Given the description of an element on the screen output the (x, y) to click on. 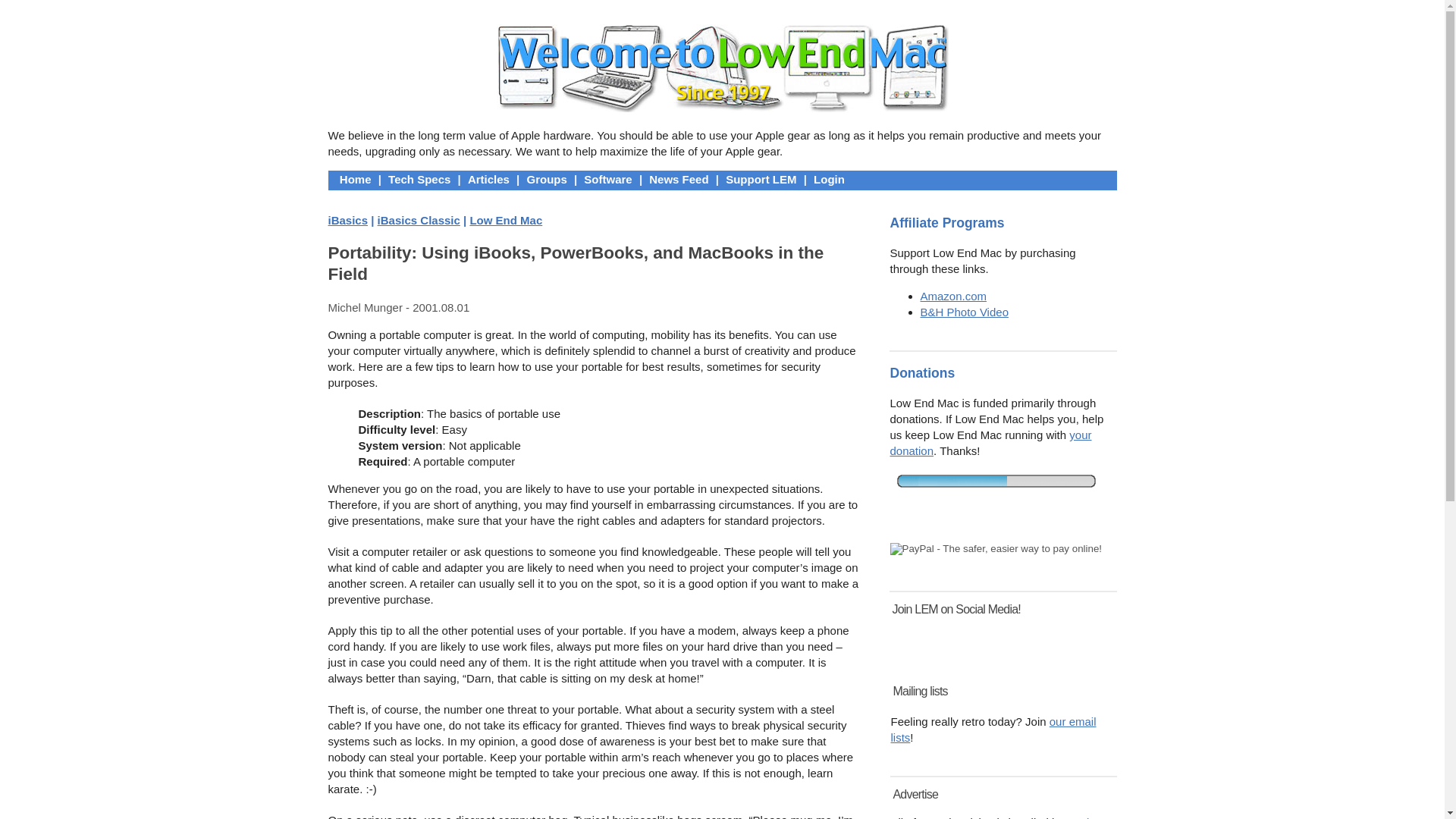
Home (355, 178)
Articles (488, 178)
Groups (546, 178)
Our User Forums (546, 178)
Support LEM (760, 178)
Support Low End Mac (760, 178)
Login (828, 178)
Login (828, 178)
iBasics (347, 219)
BackBeat Media (1002, 817)
iBasics Classic (418, 219)
Low End Mac (504, 219)
Home (355, 178)
News Feed (678, 178)
Amazon.com (953, 295)
